Given the description of an element on the screen output the (x, y) to click on. 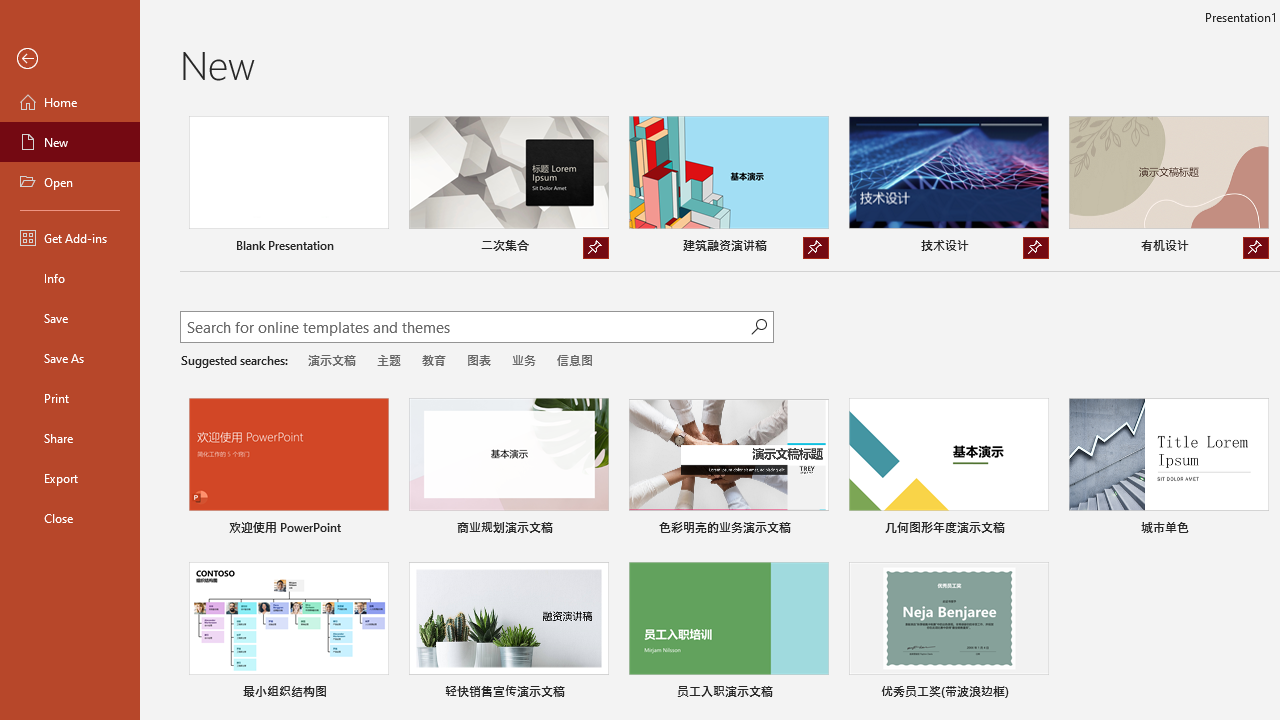
Search for online templates and themes (465, 329)
Unpin from list (1255, 247)
Export (69, 477)
